Given the description of an element on the screen output the (x, y) to click on. 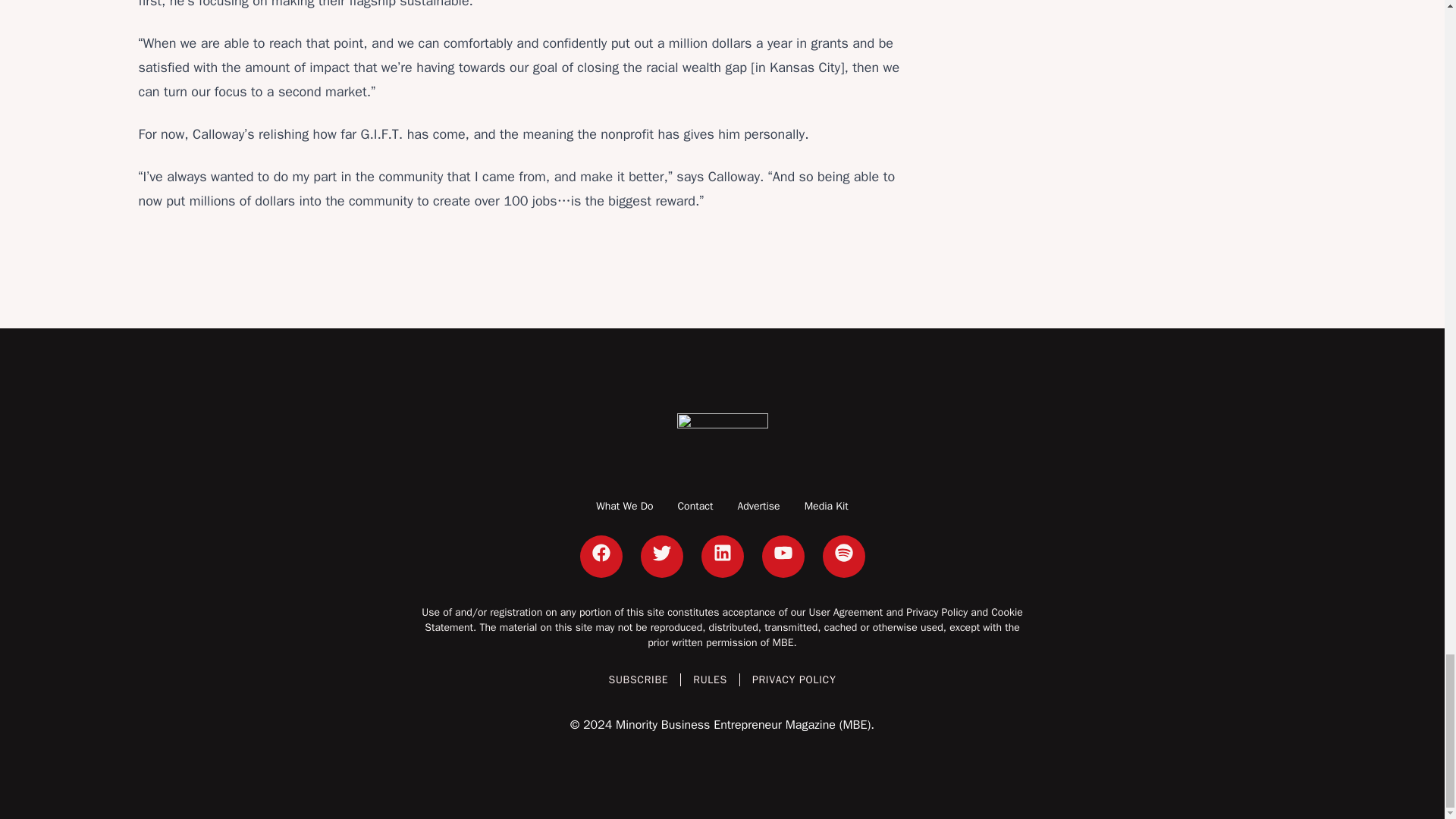
Contact (695, 505)
What We Do (623, 505)
